Given the description of an element on the screen output the (x, y) to click on. 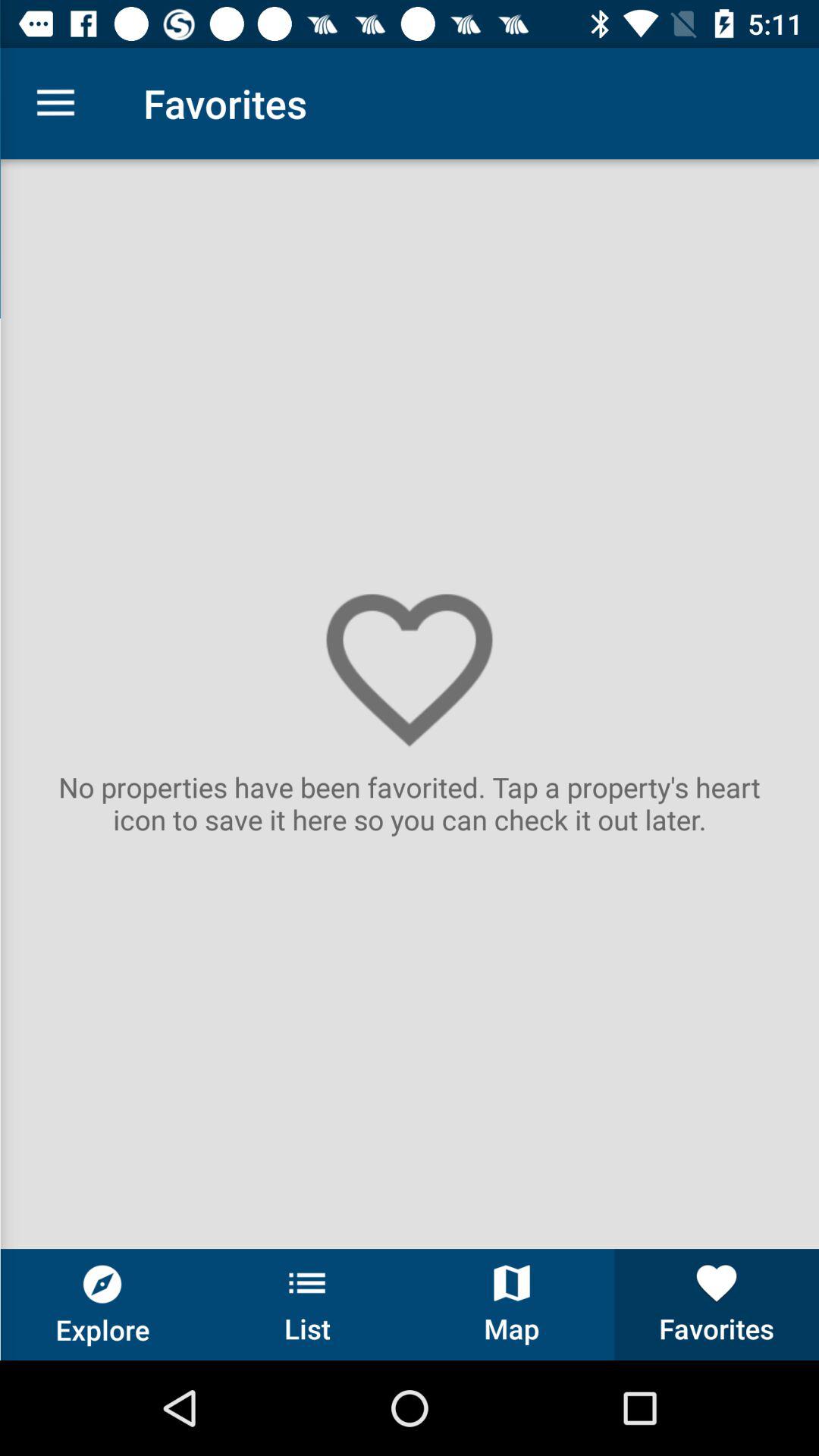
open the item next to list item (511, 1304)
